Given the description of an element on the screen output the (x, y) to click on. 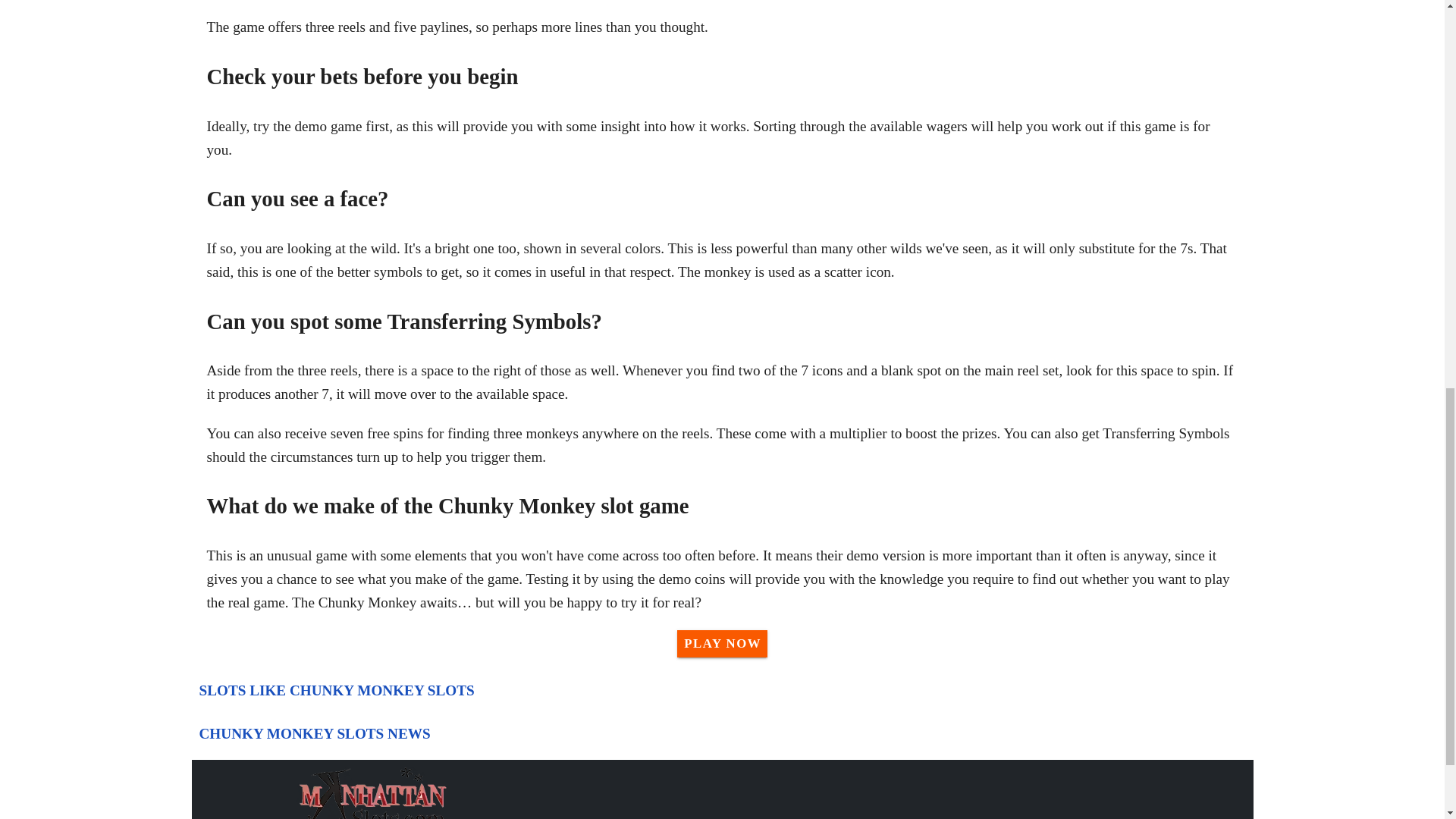
PLAY NOW (722, 643)
